Given the description of an element on the screen output the (x, y) to click on. 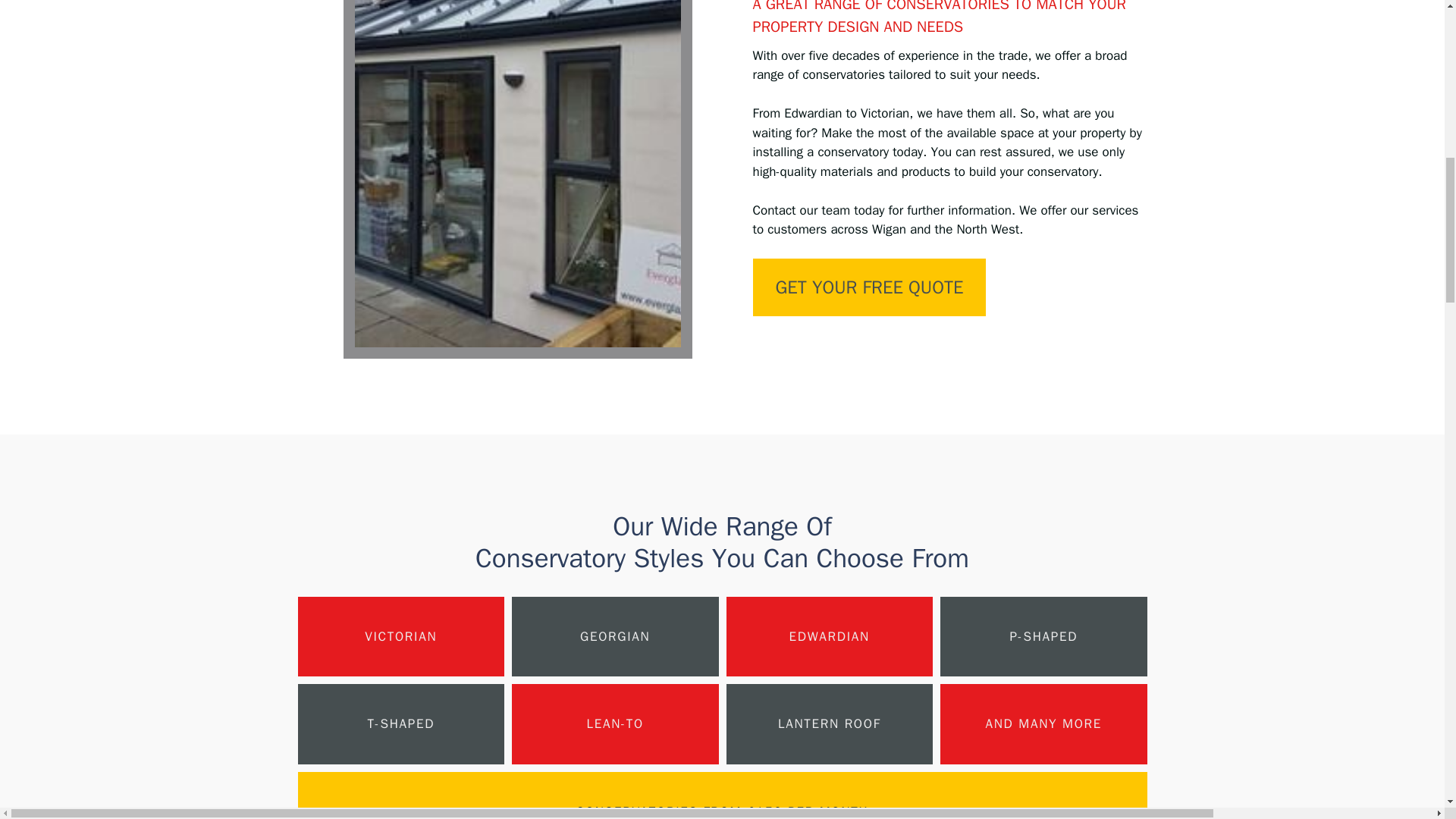
Scroll back to top (1406, 708)
GET YOUR FREE QUOTE (868, 287)
